Given the description of an element on the screen output the (x, y) to click on. 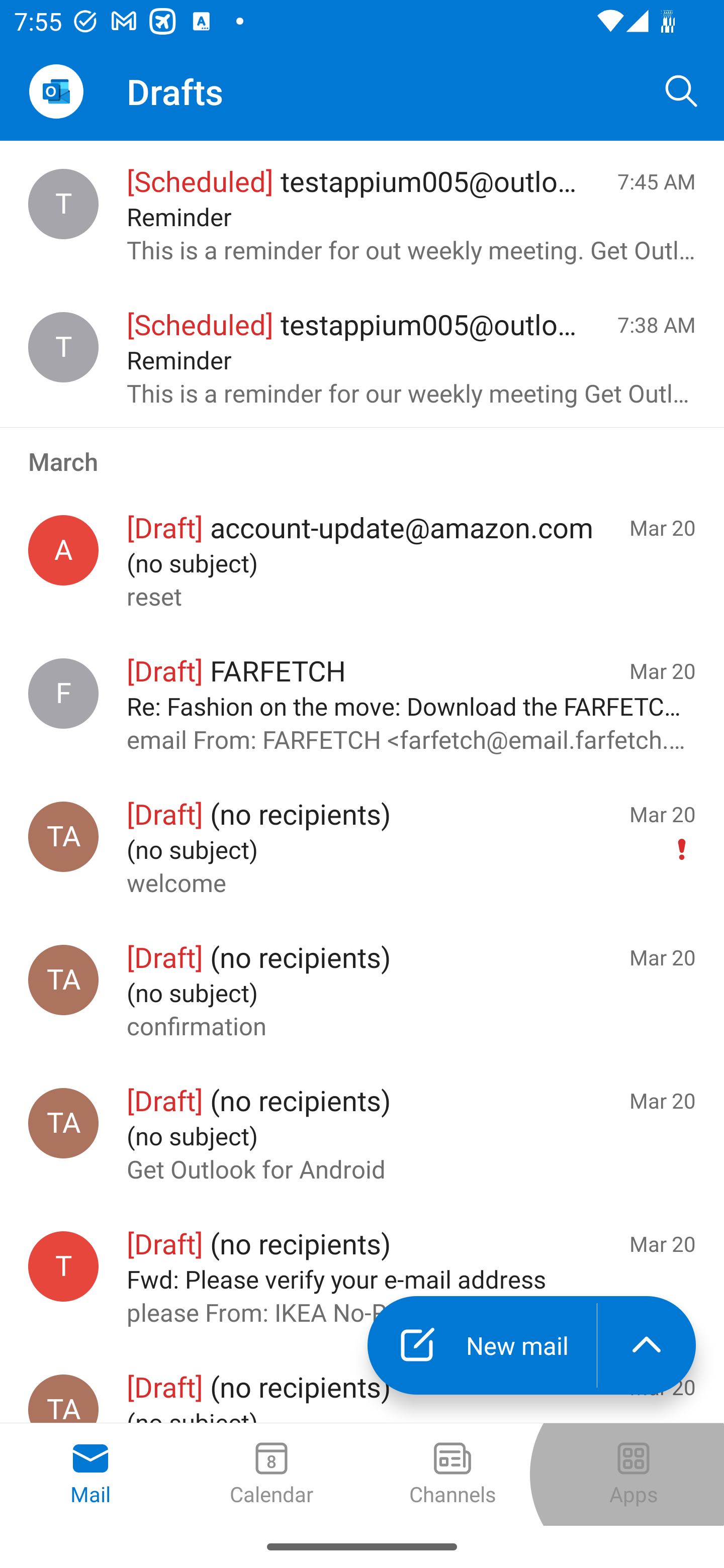
Search, ,  (681, 90)
Open Navigation Drawer (55, 91)
account-update@amazon.com (63, 549)
FARFETCH, testappium002@outlook.com (63, 693)
Test Appium, testappium002@outlook.com (63, 836)
Test Appium, testappium002@outlook.com (63, 979)
Test Appium, testappium002@outlook.com (63, 1123)
testappium002@outlook.com (63, 1265)
New mail (481, 1344)
launch the extended action menu (646, 1344)
Calendar (271, 1474)
Channels (452, 1474)
Apps (633, 1474)
